Given the description of an element on the screen output the (x, y) to click on. 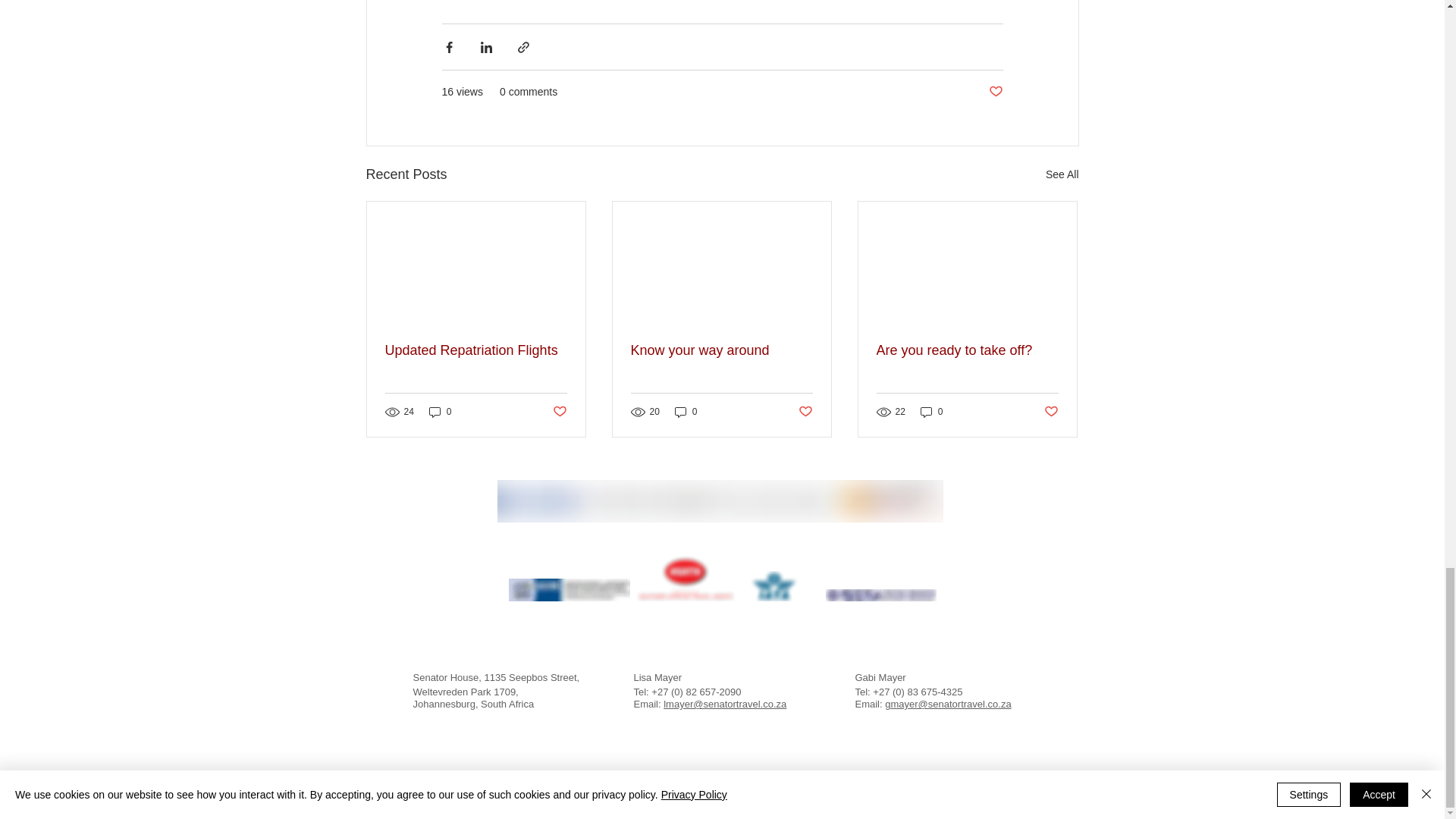
0 (440, 411)
Privacy Policy (721, 782)
a.png (685, 575)
Updated Repatriation Flights (476, 350)
Post not marked as liked (558, 412)
Untitled.png (720, 501)
Post not marked as liked (1050, 412)
See All (1061, 174)
0 (685, 411)
Post not marked as liked (995, 91)
Post not marked as liked (804, 412)
Know your way around (721, 350)
0 (931, 411)
Are you ready to take off? (967, 350)
